Given the description of an element on the screen output the (x, y) to click on. 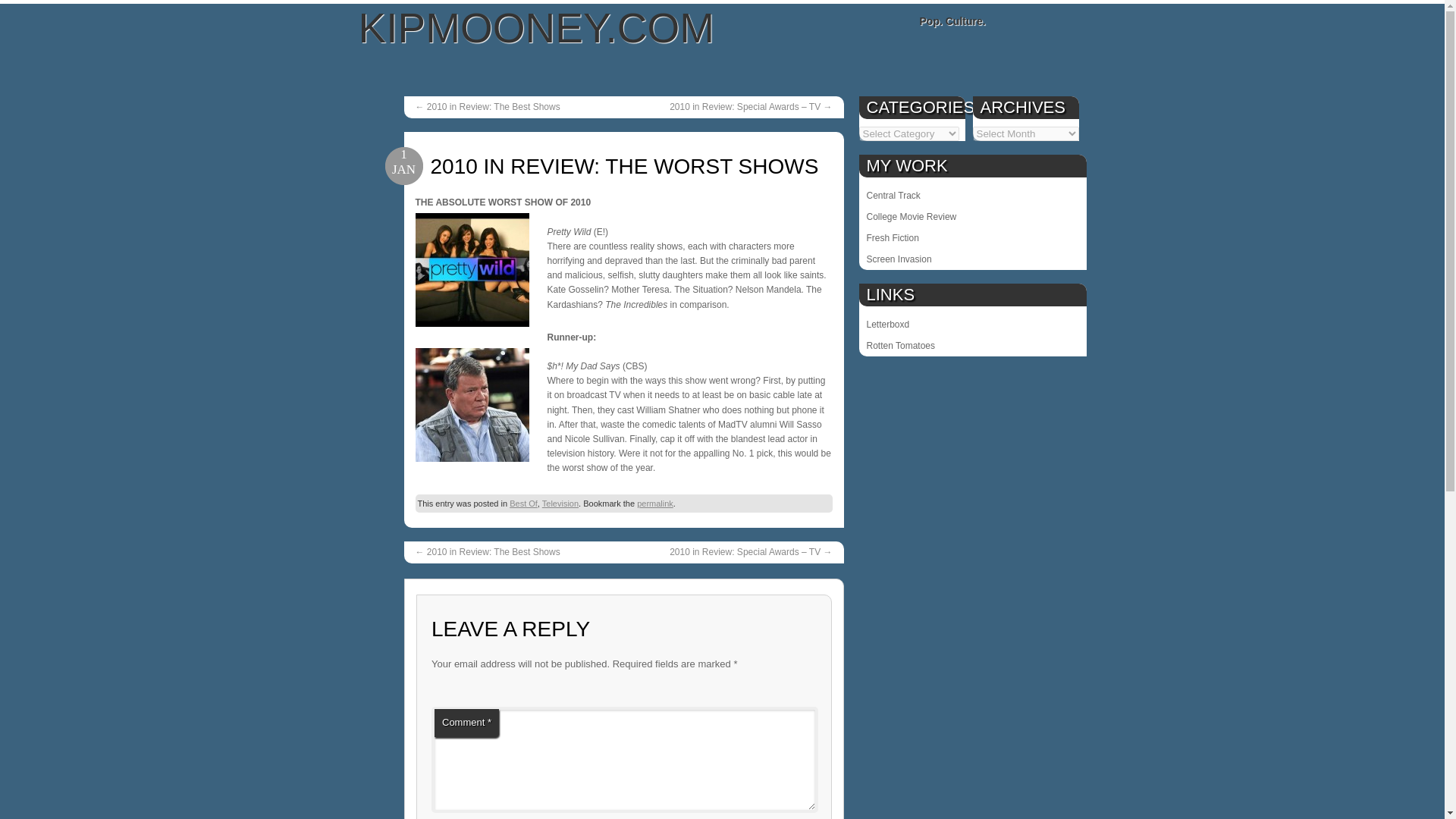
Rotten Tomatoes (972, 345)
permalink (654, 502)
4Vam8xPYRHhODRA (471, 269)
Best Of (523, 502)
KipMooney.com (536, 27)
Permalink to 2010 in Review: The Worst Shows (654, 502)
Fresh Fiction (972, 237)
KIPMOONEY.COM (536, 27)
College Movie Review (972, 216)
Central Track (972, 195)
Television (559, 502)
shit-my-dad-says-4 (471, 404)
Screen Invasion (972, 259)
Letterboxd (972, 323)
